Given the description of an element on the screen output the (x, y) to click on. 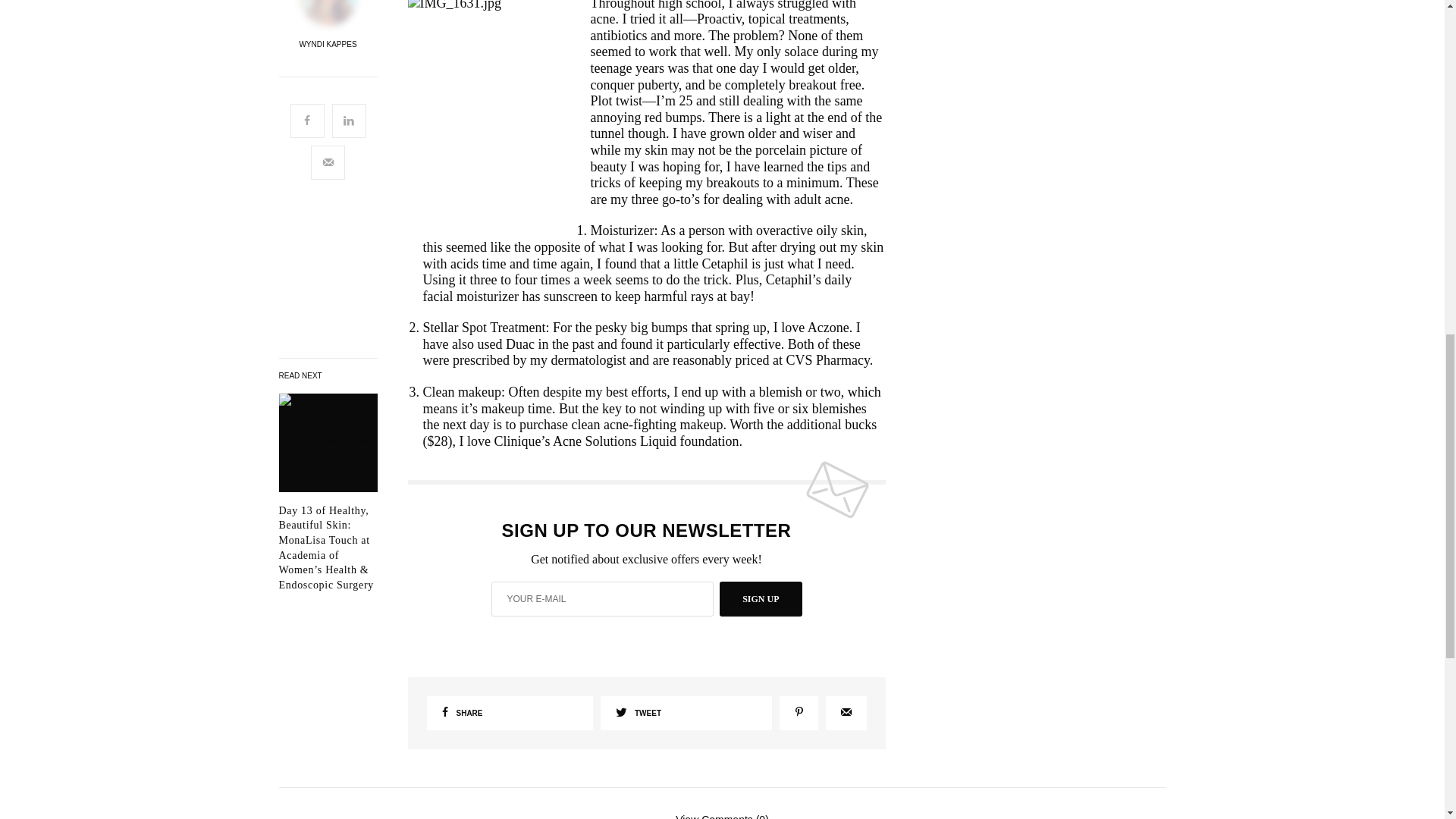
SIGN UP (760, 598)
WYNDI KAPPES (328, 44)
SHARE (509, 713)
